Given the description of an element on the screen output the (x, y) to click on. 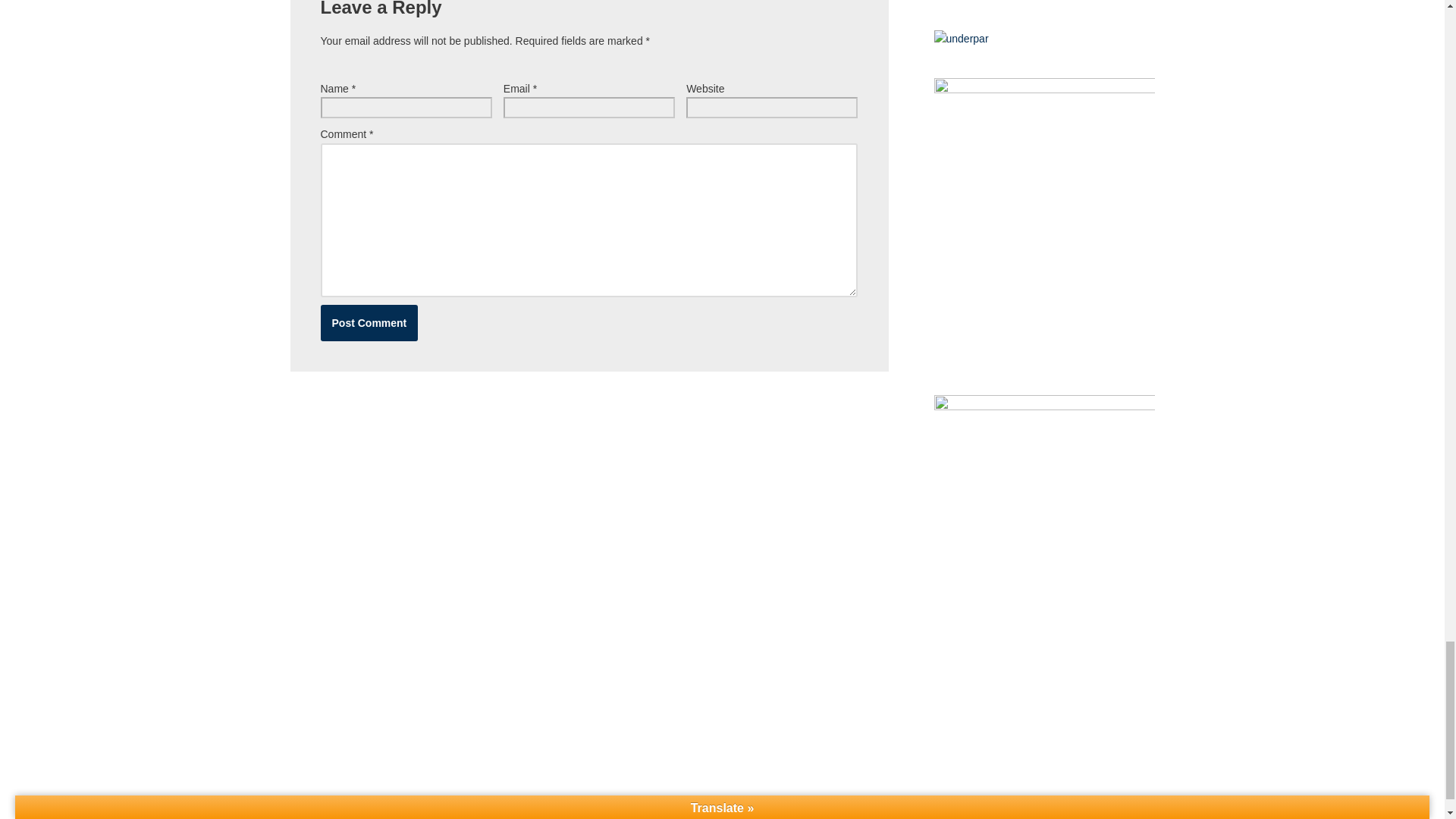
Post Comment (368, 322)
